Given the description of an element on the screen output the (x, y) to click on. 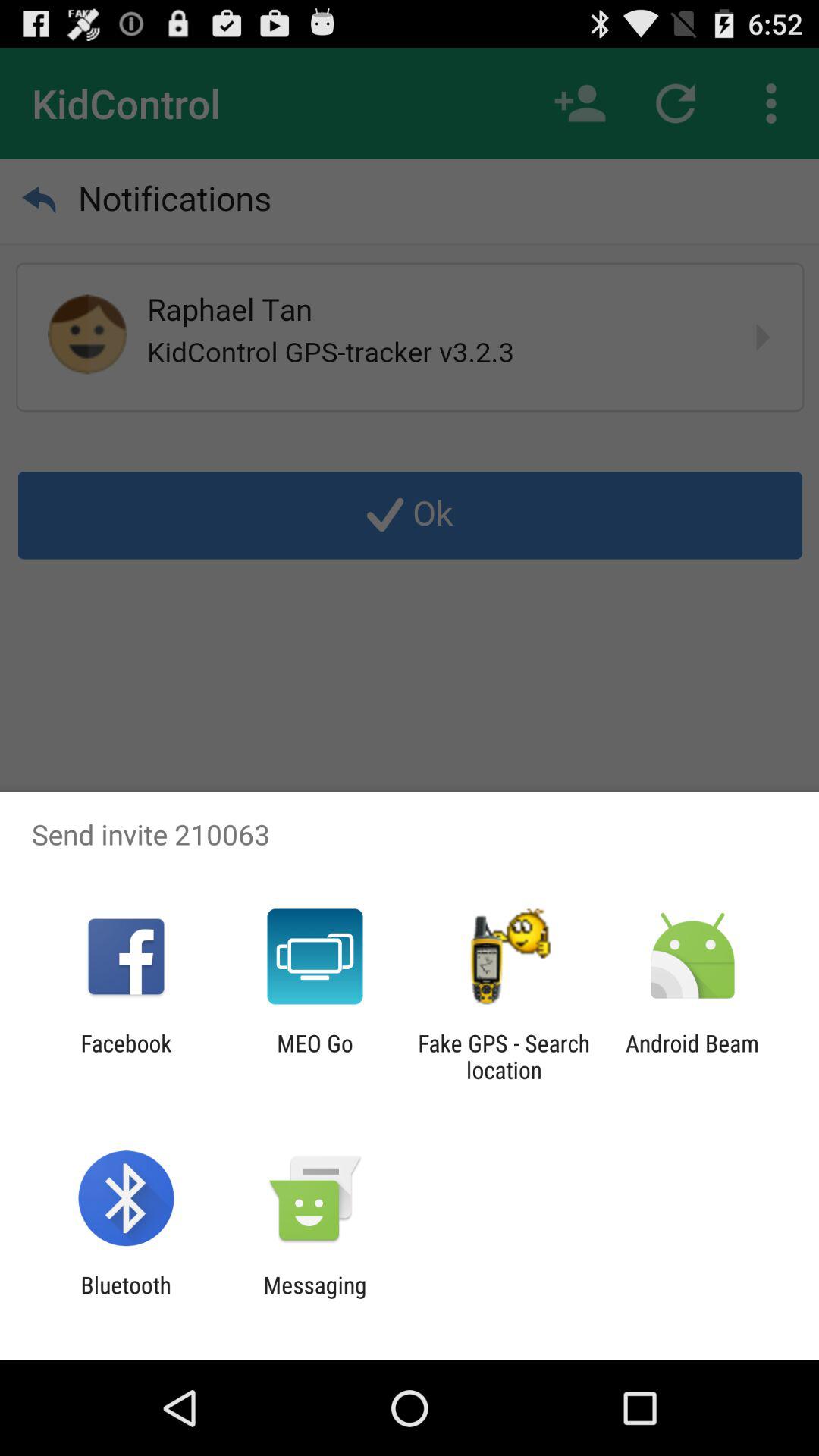
turn off item next to android beam app (503, 1056)
